Given the description of an element on the screen output the (x, y) to click on. 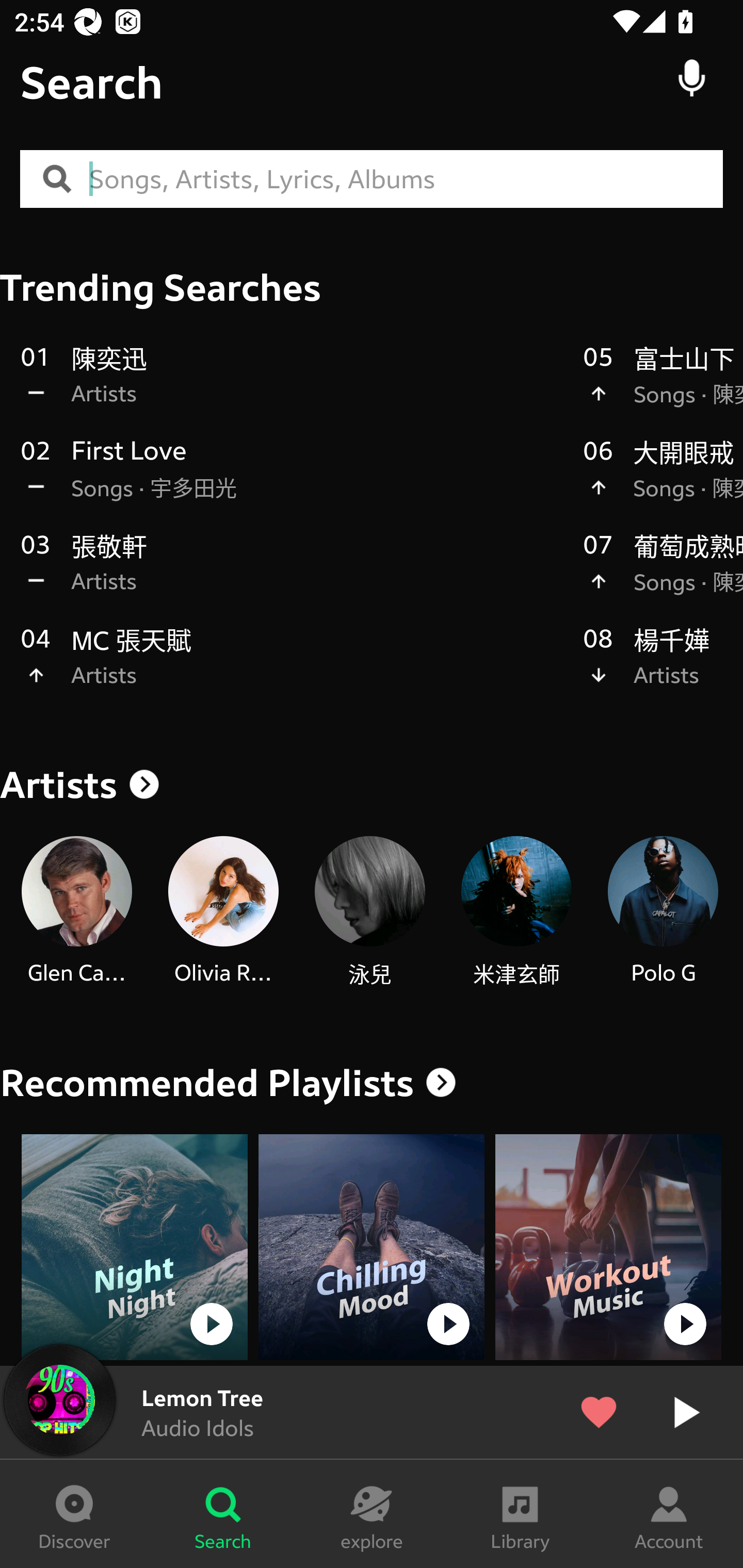
Songs, Artists, Lyrics, Albums (405, 179)
01 陳奕迅 Artists (291, 385)
05 富士山下 Songs · 陳奕迅 (663, 385)
02 First Love Songs · 宇多田光 (291, 479)
06 大開眼戒 Songs · 陳奕迅 (663, 479)
03 張敬軒 Artists (291, 573)
07 葡萄成熟時 Songs · 陳奕迅 (663, 573)
04 MC 張天賦 Artists (291, 667)
08 楊千嬅 Artists (663, 667)
Artists (371, 784)
Glen Campbell (76, 911)
Olivia Rodrigo (222, 911)
泳兒 (369, 912)
米津玄師 (516, 912)
Polo G (662, 911)
Recommended Playlists (206, 1082)
Lemon Tree Audio Idols (371, 1412)
Discover (74, 1513)
explore (371, 1513)
Library (519, 1513)
Account (668, 1513)
